Given the description of an element on the screen output the (x, y) to click on. 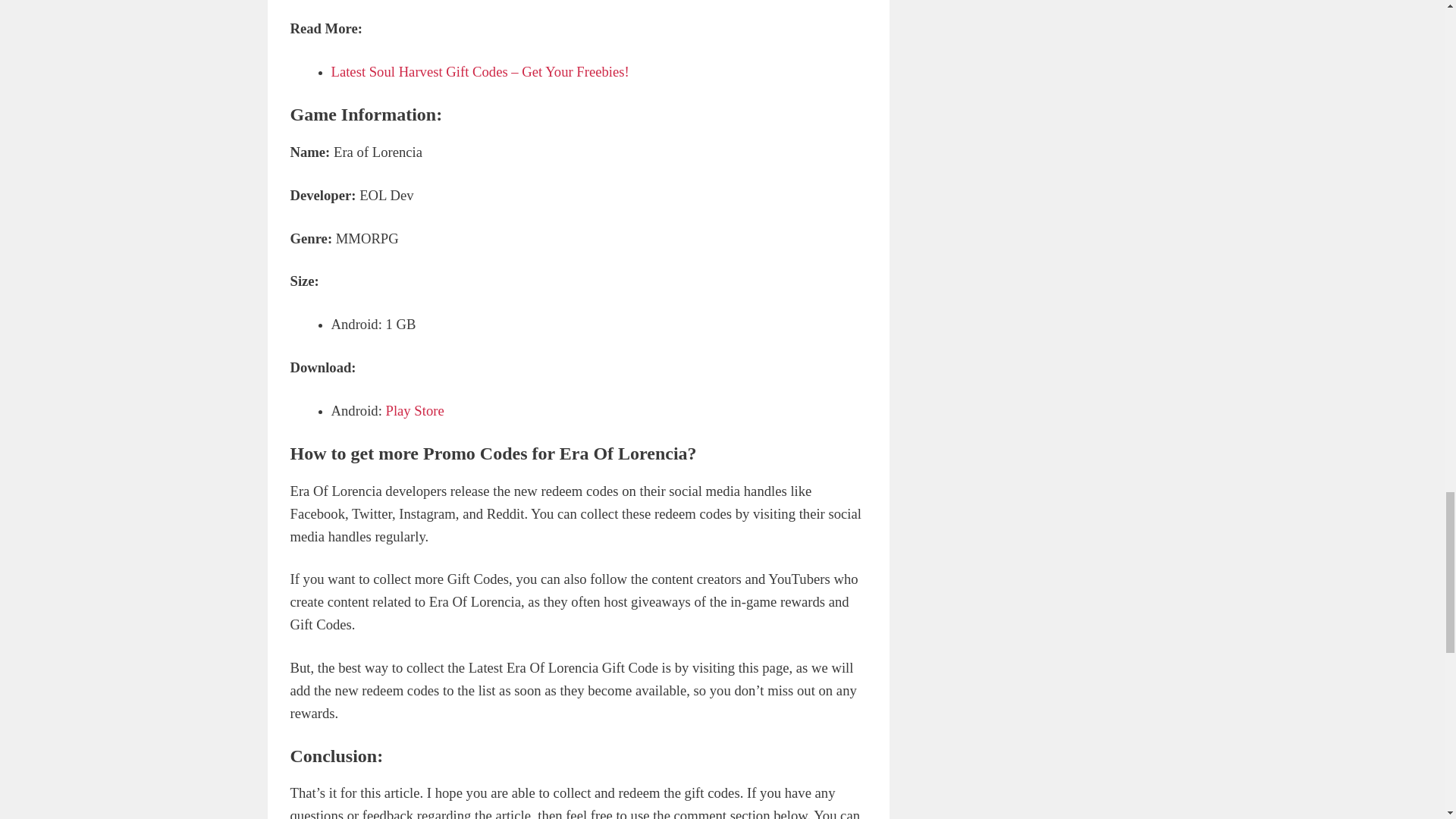
Play Store (414, 410)
